Given the description of an element on the screen output the (x, y) to click on. 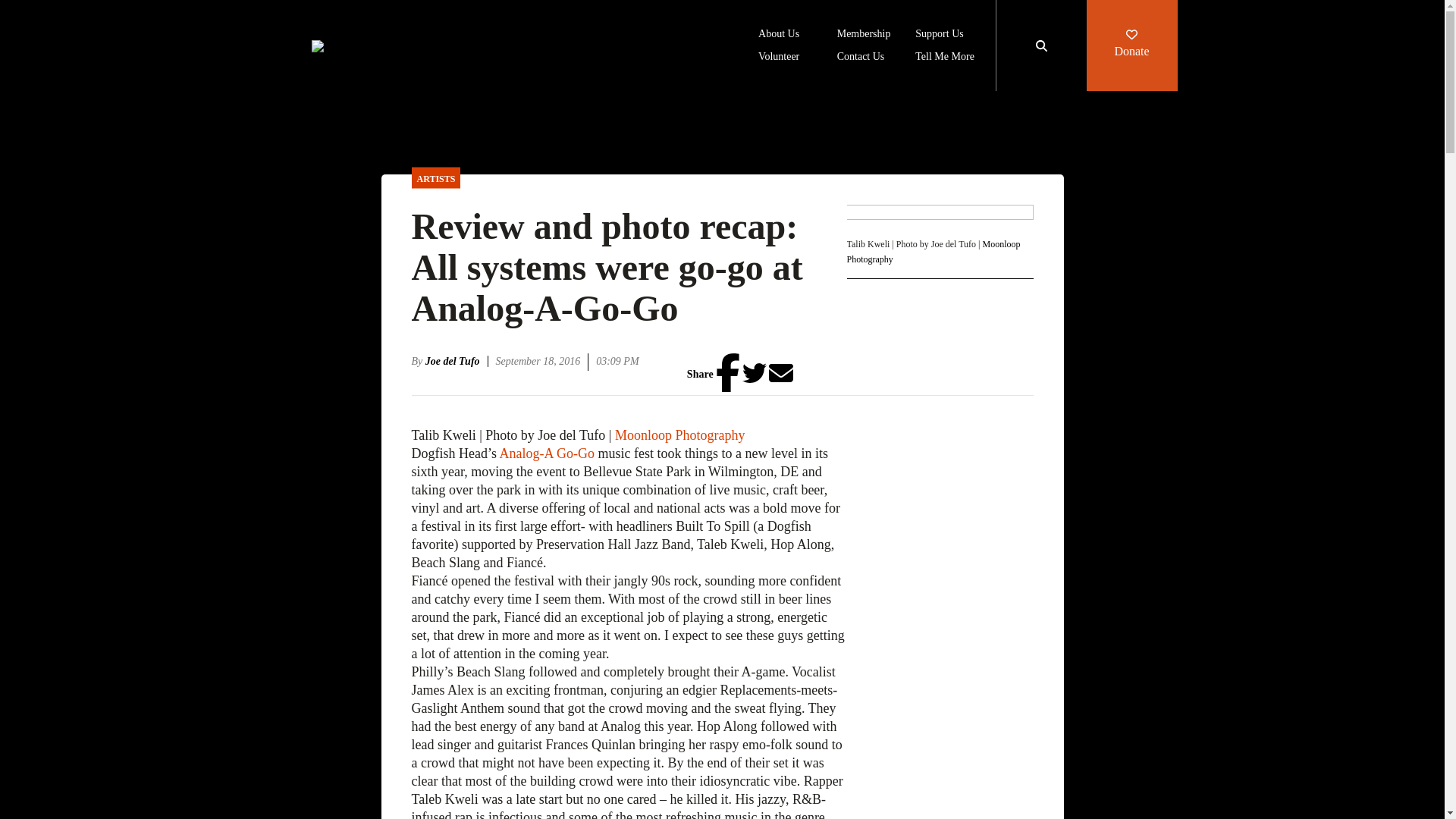
Contact Us (861, 57)
Tell Me More (944, 57)
About Us (778, 35)
Joe del Tufo (456, 360)
Moonloop Photography (679, 435)
Moonloop Photography (932, 251)
Volunteer (778, 57)
Membership (864, 35)
Analog-A Go-Go (546, 453)
Support Us (938, 35)
